Given the description of an element on the screen output the (x, y) to click on. 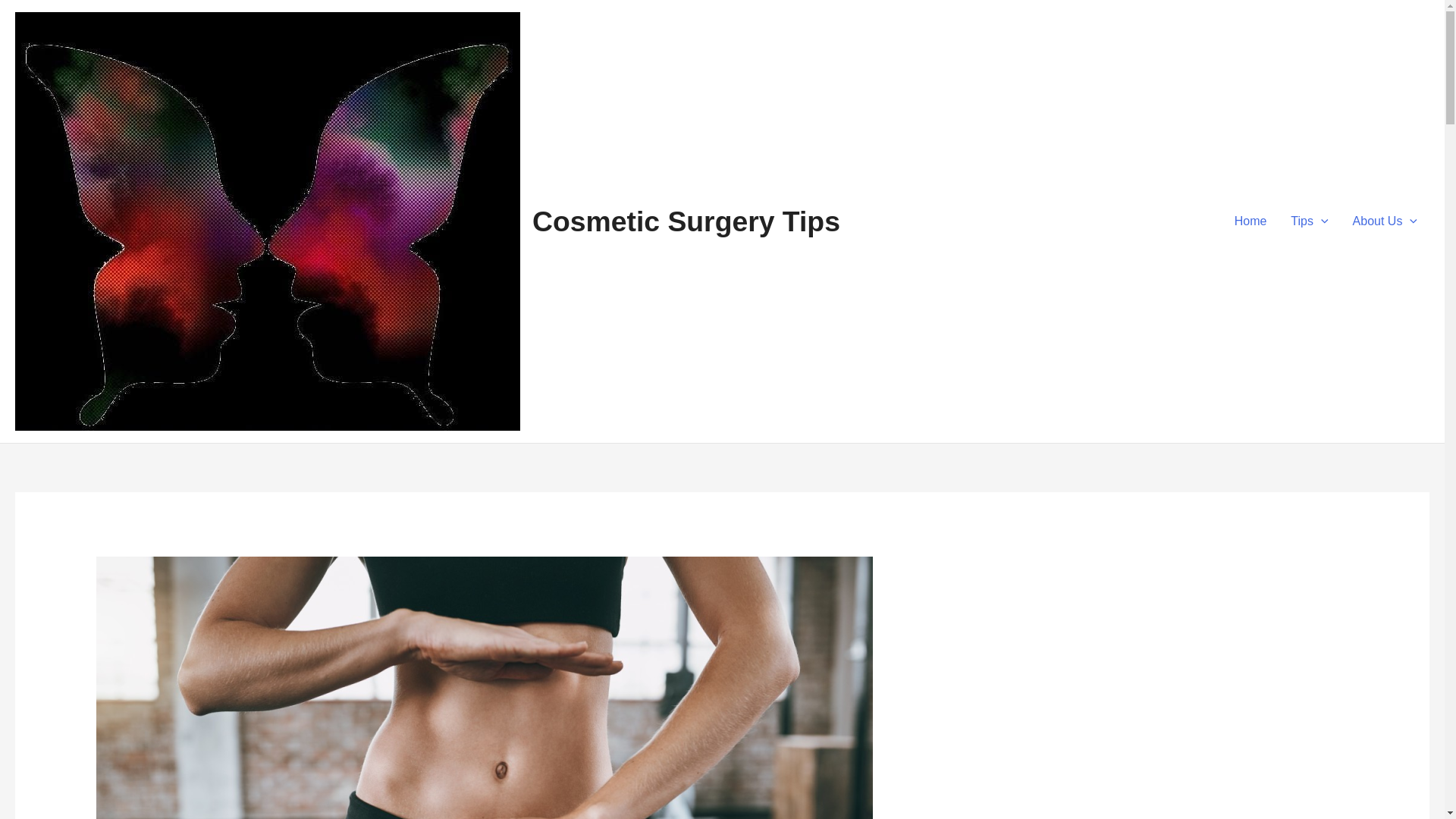
Tips (1308, 220)
About Us (1384, 220)
Home (1251, 220)
Cosmetic Surgery Tips (686, 221)
